Given the description of an element on the screen output the (x, y) to click on. 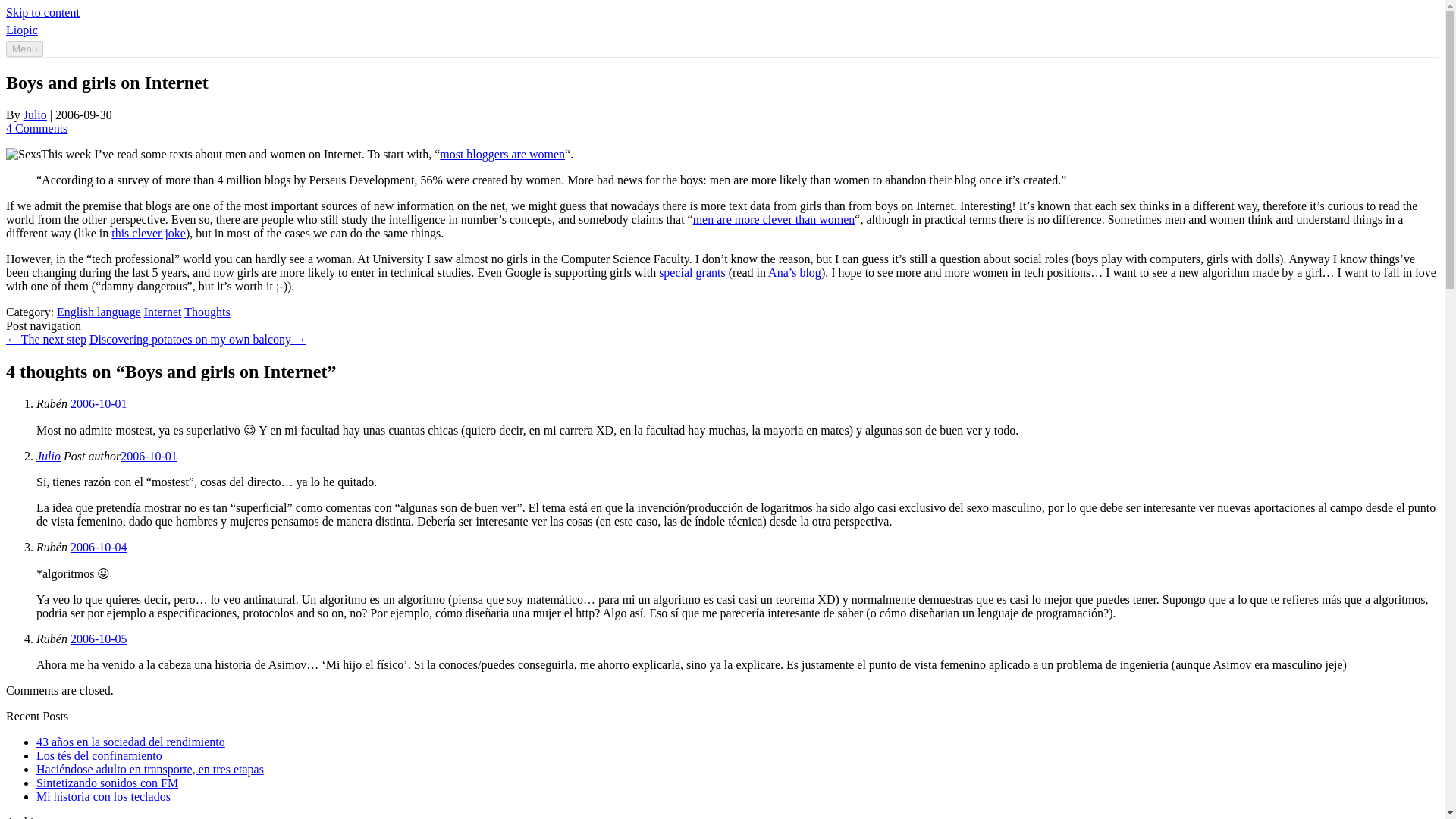
Thoughts (207, 311)
Skip to content (42, 11)
this clever joke (149, 232)
Liopic (21, 29)
Sintetizando sonidos con FM (106, 782)
2006-10-05 (98, 638)
Posts by Julio (34, 114)
2006-10-01 (98, 403)
English language (98, 311)
Skip to content (42, 11)
